Given the description of an element on the screen output the (x, y) to click on. 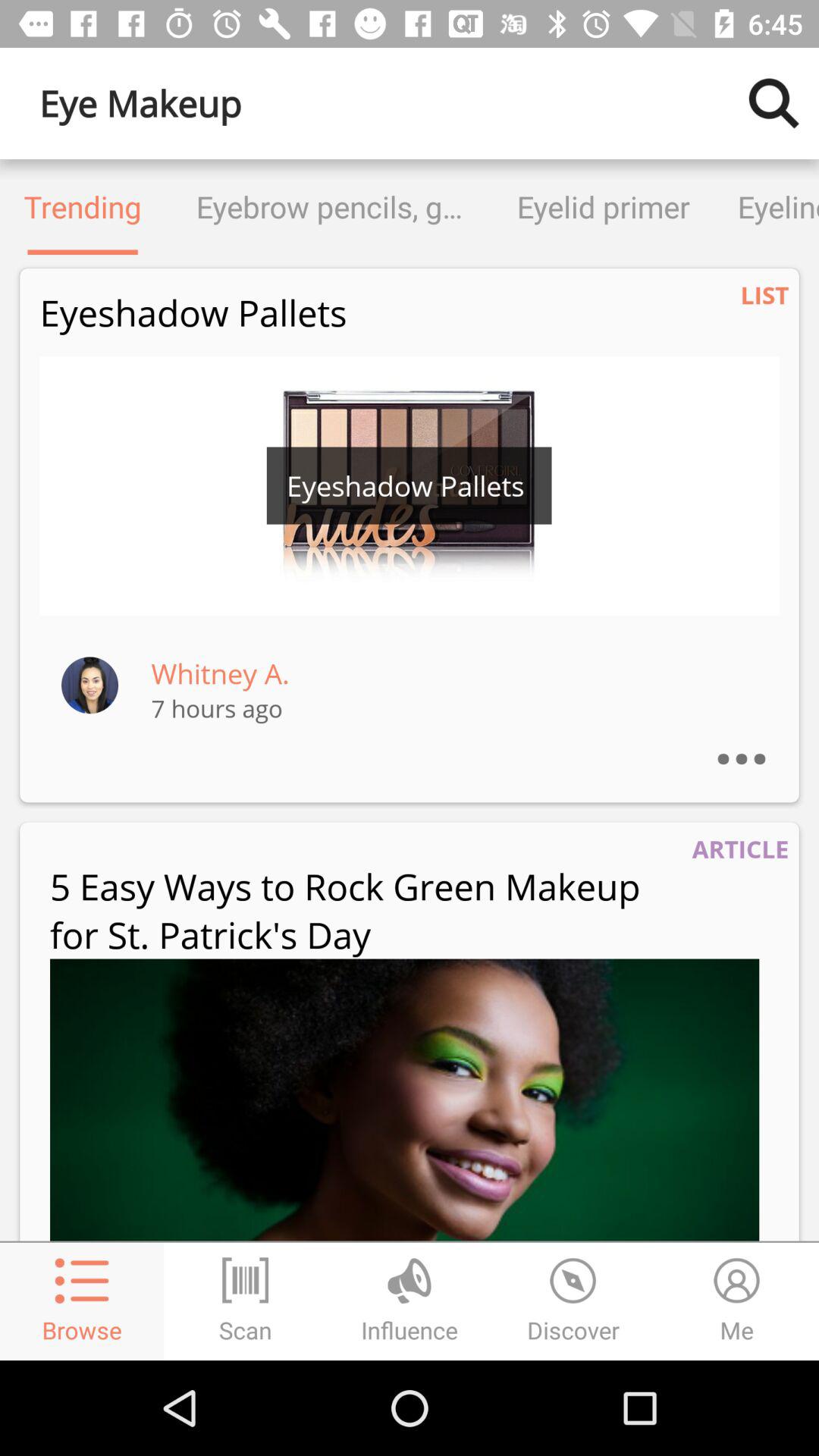
click item next to the ... icon (220, 673)
